Given the description of an element on the screen output the (x, y) to click on. 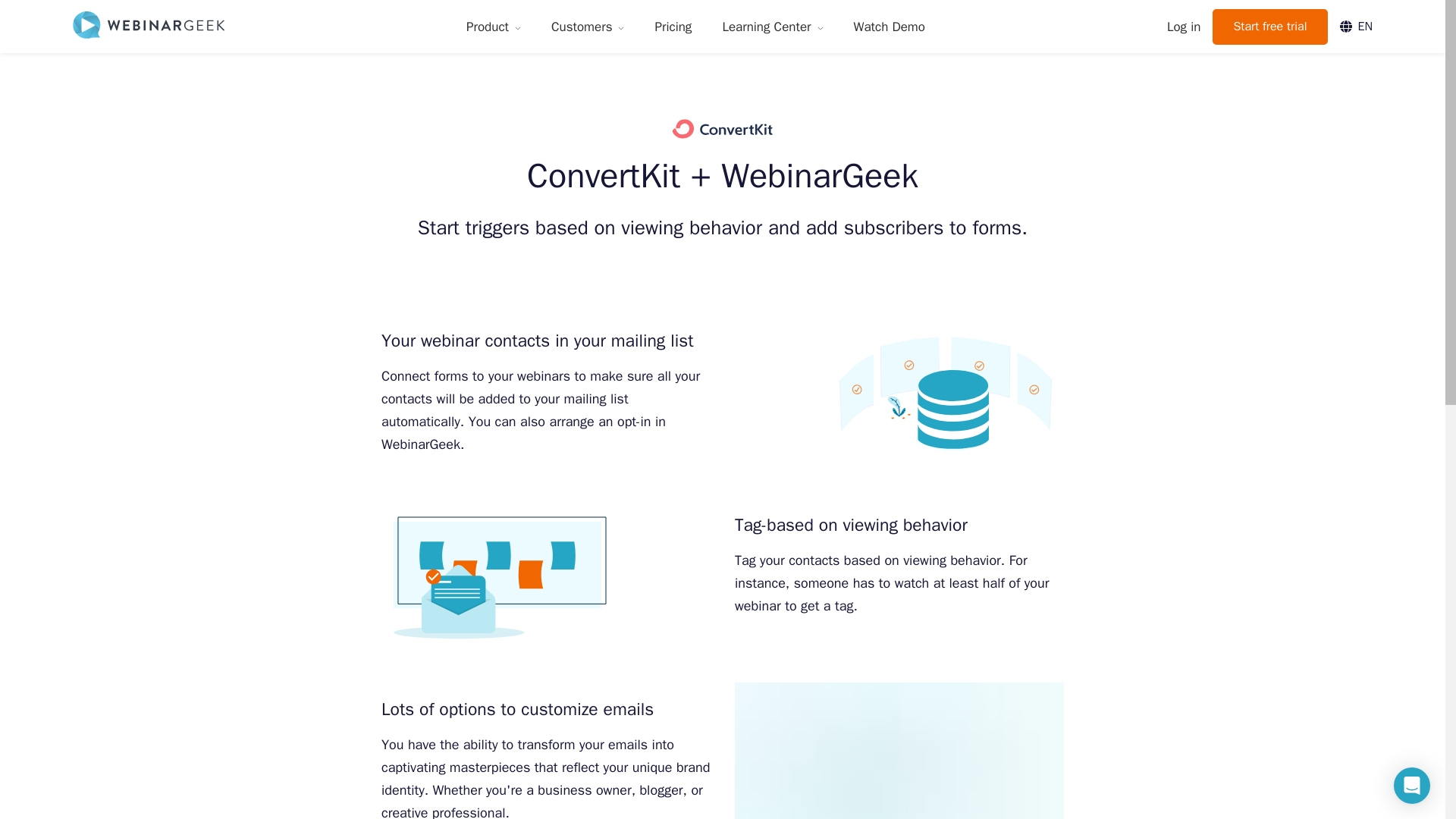
Convertkit SVG logo (722, 128)
Pricing (672, 27)
Customers (587, 26)
logo (148, 26)
automation-03 (499, 577)
Product (493, 26)
Learning Center (772, 26)
Sync-02 (945, 393)
